Given the description of an element on the screen output the (x, y) to click on. 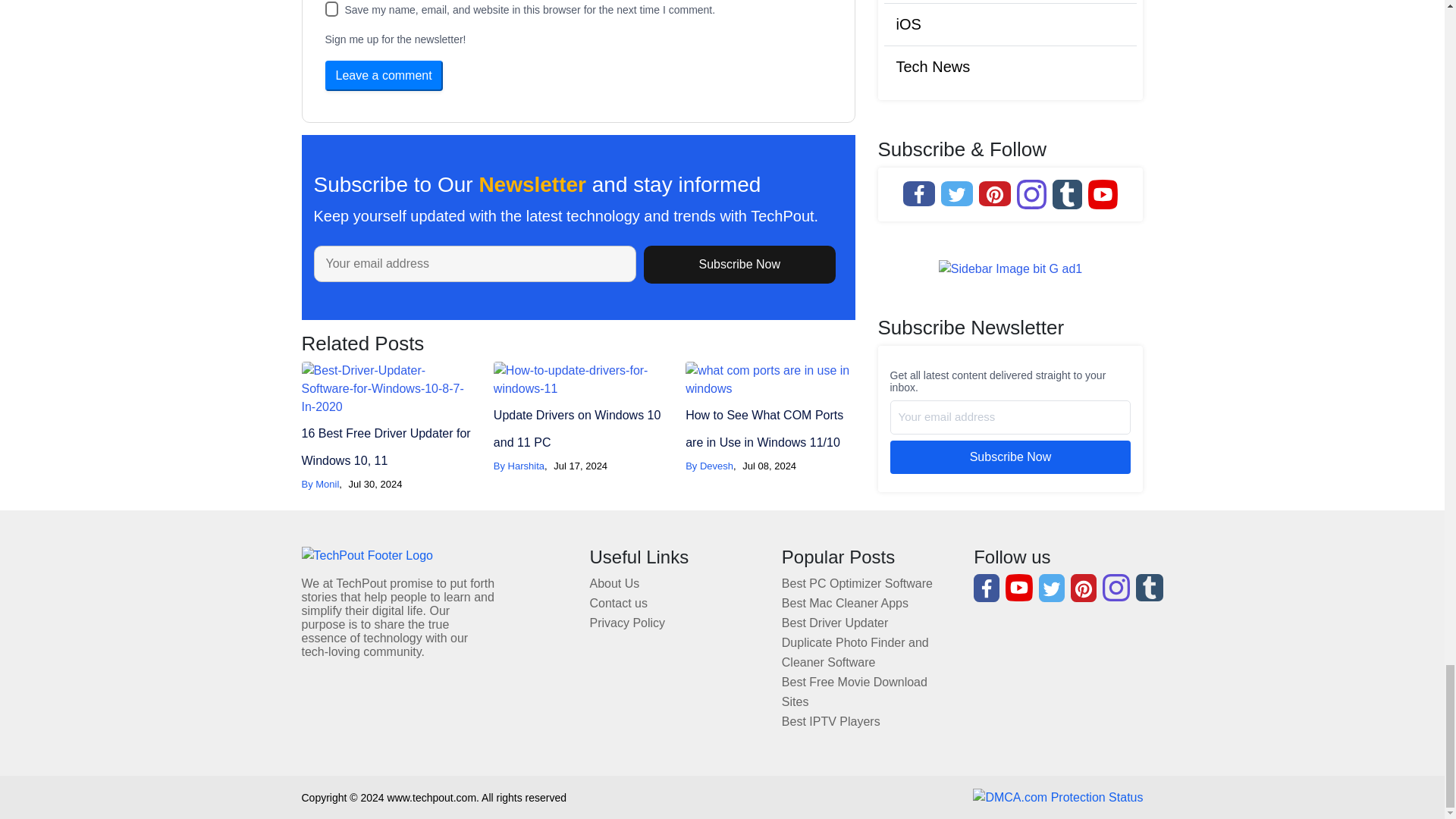
Subscribe Now (739, 264)
Leave a comment (383, 75)
